Given the description of an element on the screen output the (x, y) to click on. 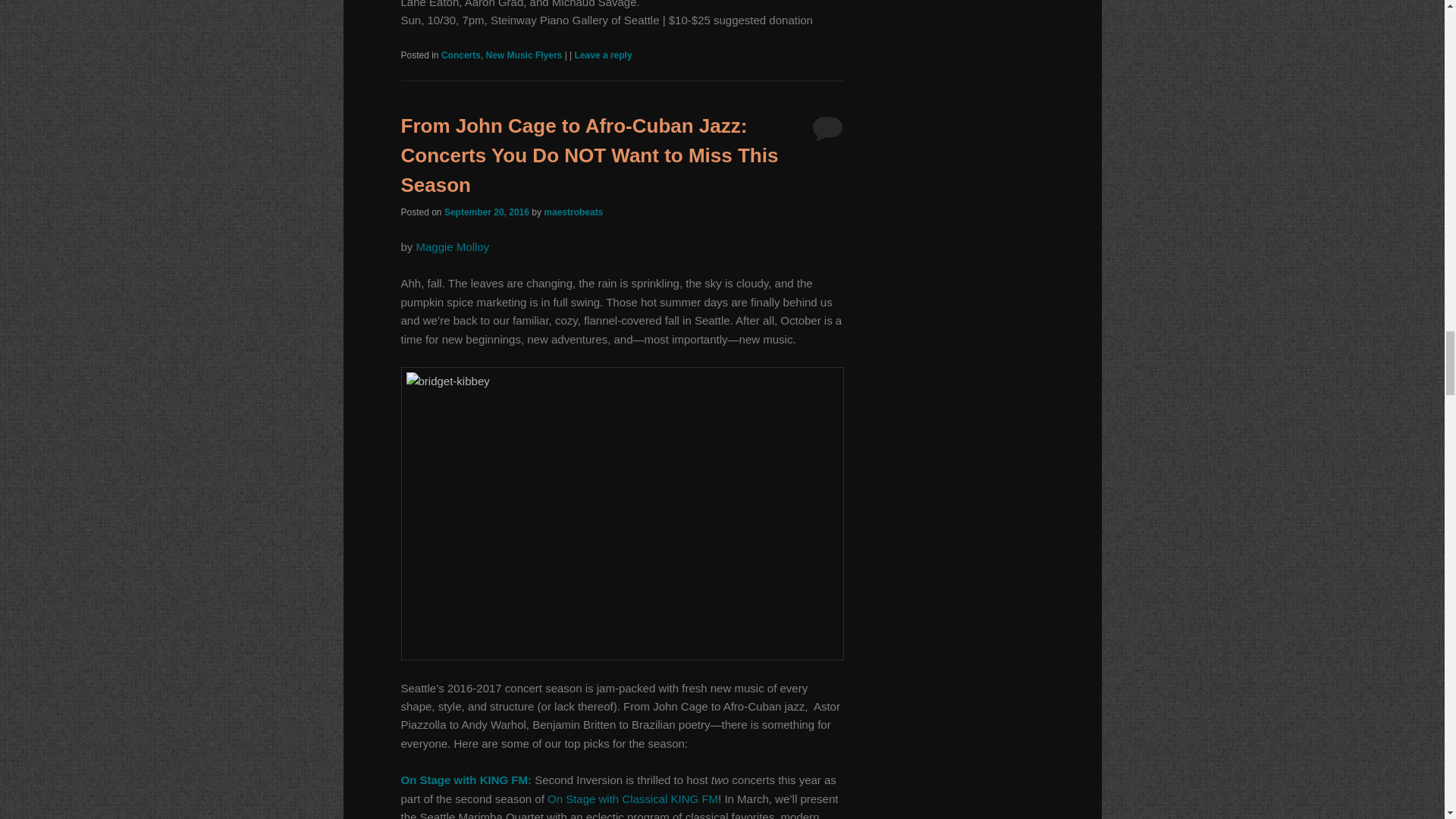
View all posts by maestrobeats (572, 212)
11:41 AM (486, 212)
